Given the description of an element on the screen output the (x, y) to click on. 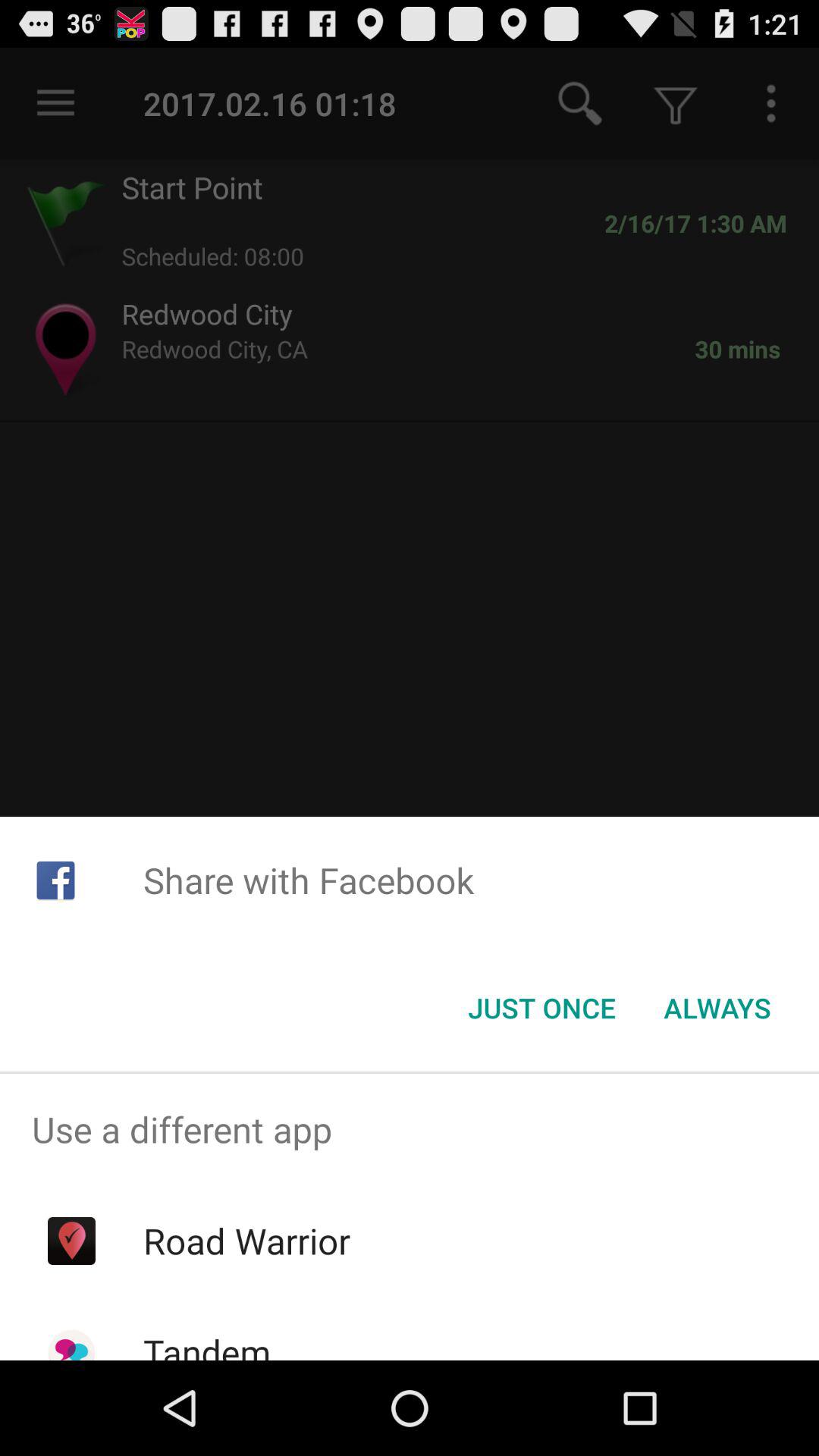
open always (717, 1007)
